Given the description of an element on the screen output the (x, y) to click on. 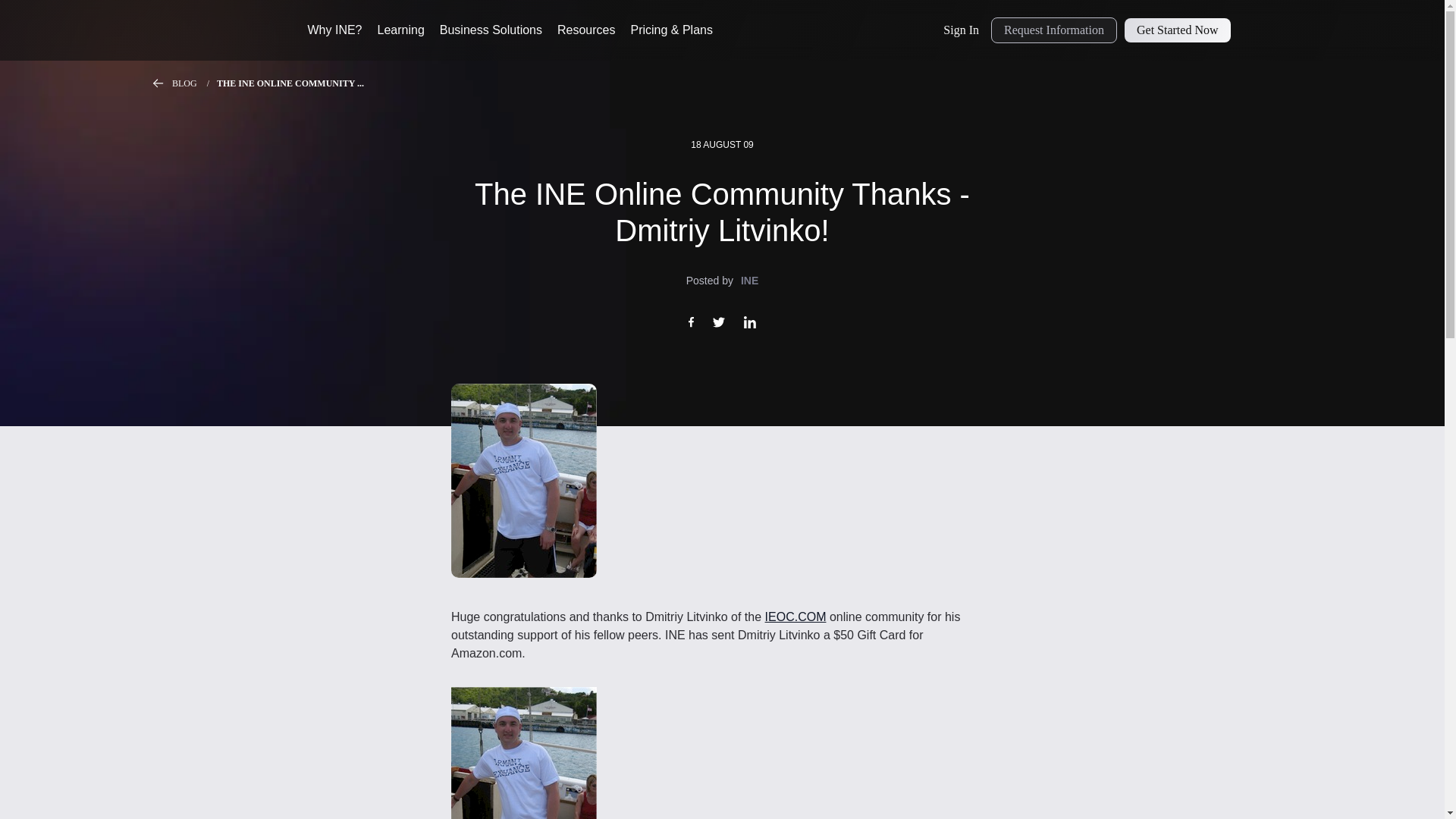
Resources (585, 30)
Why INE? (334, 30)
Sign In (961, 30)
IEOC.COM (796, 616)
BLOG (193, 83)
Request Information (1053, 30)
Business Solutions (490, 30)
Get Started Now (1177, 30)
